Given the description of an element on the screen output the (x, y) to click on. 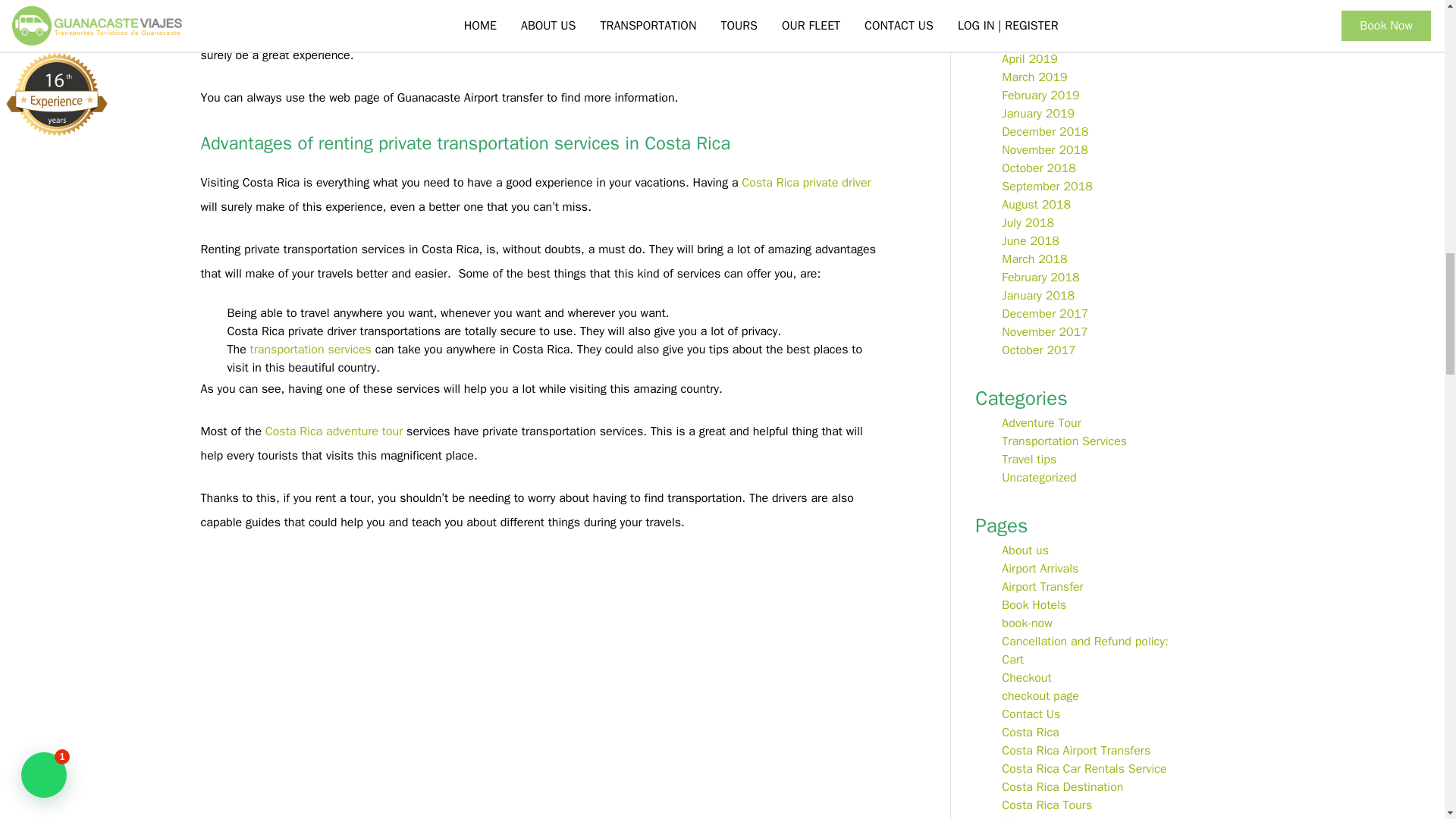
Costa Rica adventure tour (333, 431)
Costa Rica private driver (805, 182)
transportation services (312, 349)
